Given the description of an element on the screen output the (x, y) to click on. 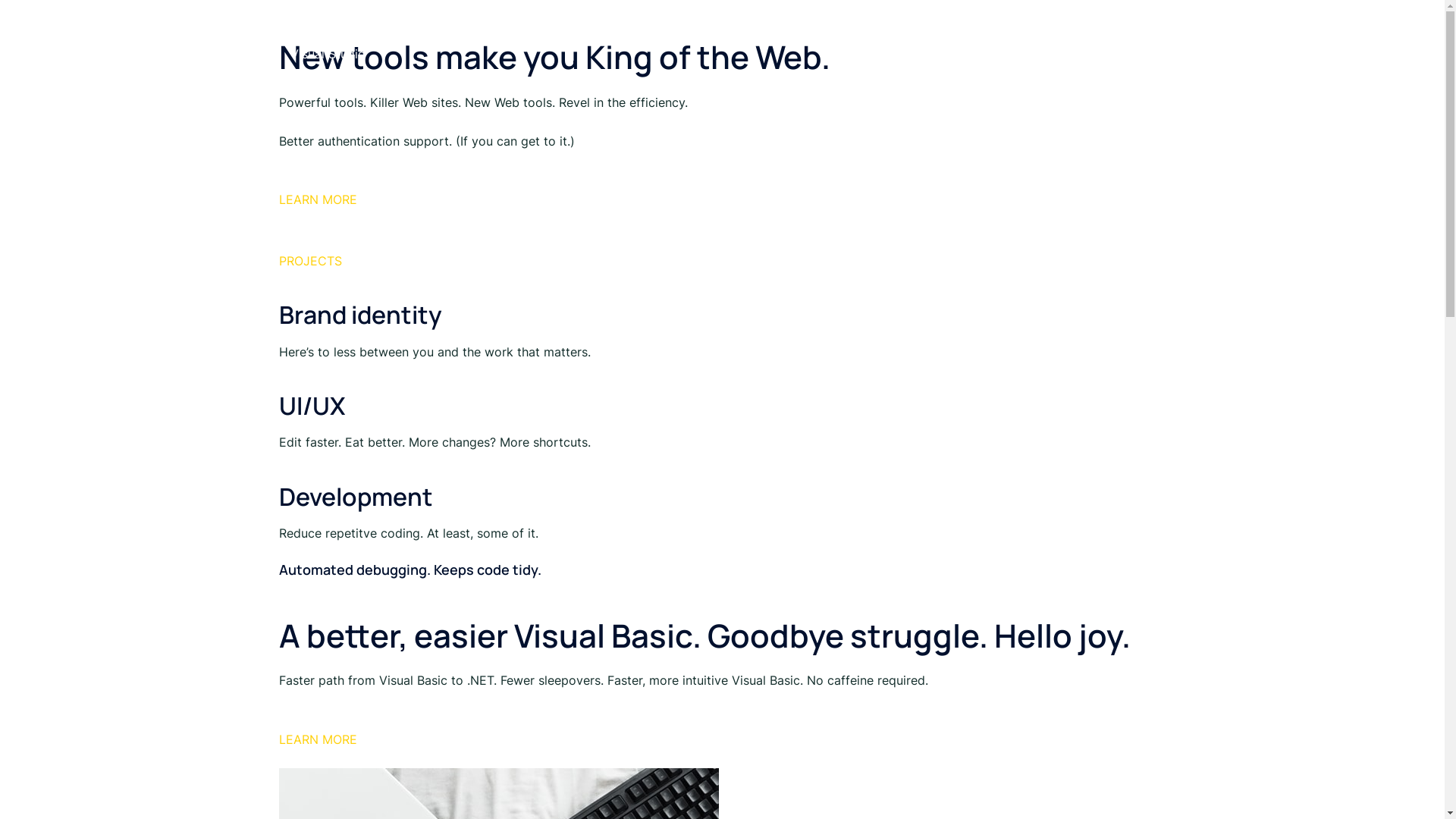
PROJECTS Element type: text (310, 270)
Blog Element type: text (1098, 37)
400 Plus Differences Element type: text (408, 25)
LEARN MORE Element type: text (318, 209)
Search Element type: text (1148, 37)
LEARN MORE Element type: text (318, 749)
Home Element type: text (1051, 37)
